Given the description of an element on the screen output the (x, y) to click on. 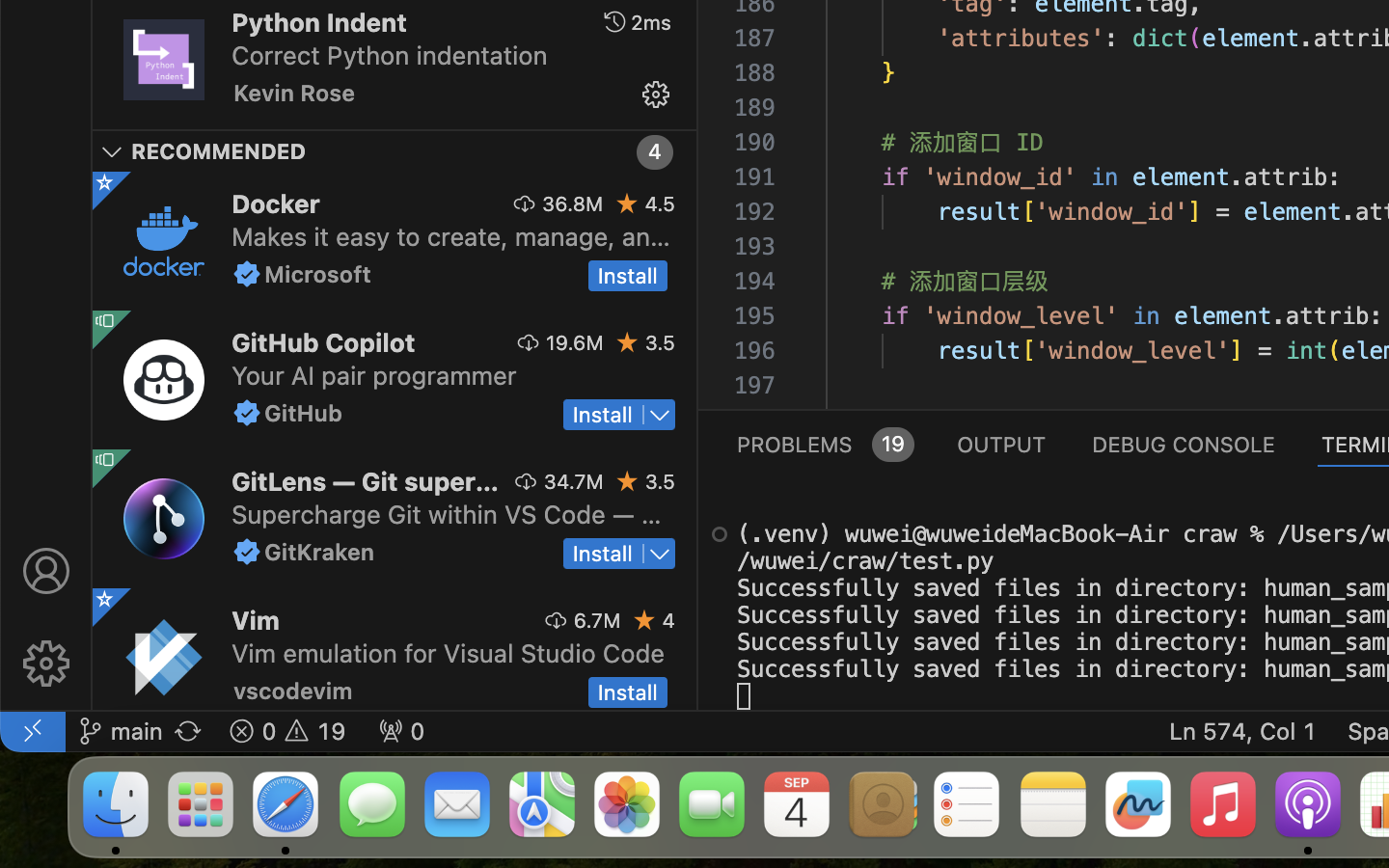
Correct Python indentation Element type: AXStaticText (389, 54)
Vim emulation for Visual Studio Code Element type: AXStaticText (448, 652)
Supercharge Git within VS Code — Visualize code authorship at a glance via Git blame annotations and CodeLens, seamlessly navigate and explore Git repositories, gain valuable insights via rich visualizations and powerful comparison commands, and so much more Element type: AXStaticText (446, 513)
 Element type: AXButton (655, 94)
 Element type: AXGroup (46, 570)
